Given the description of an element on the screen output the (x, y) to click on. 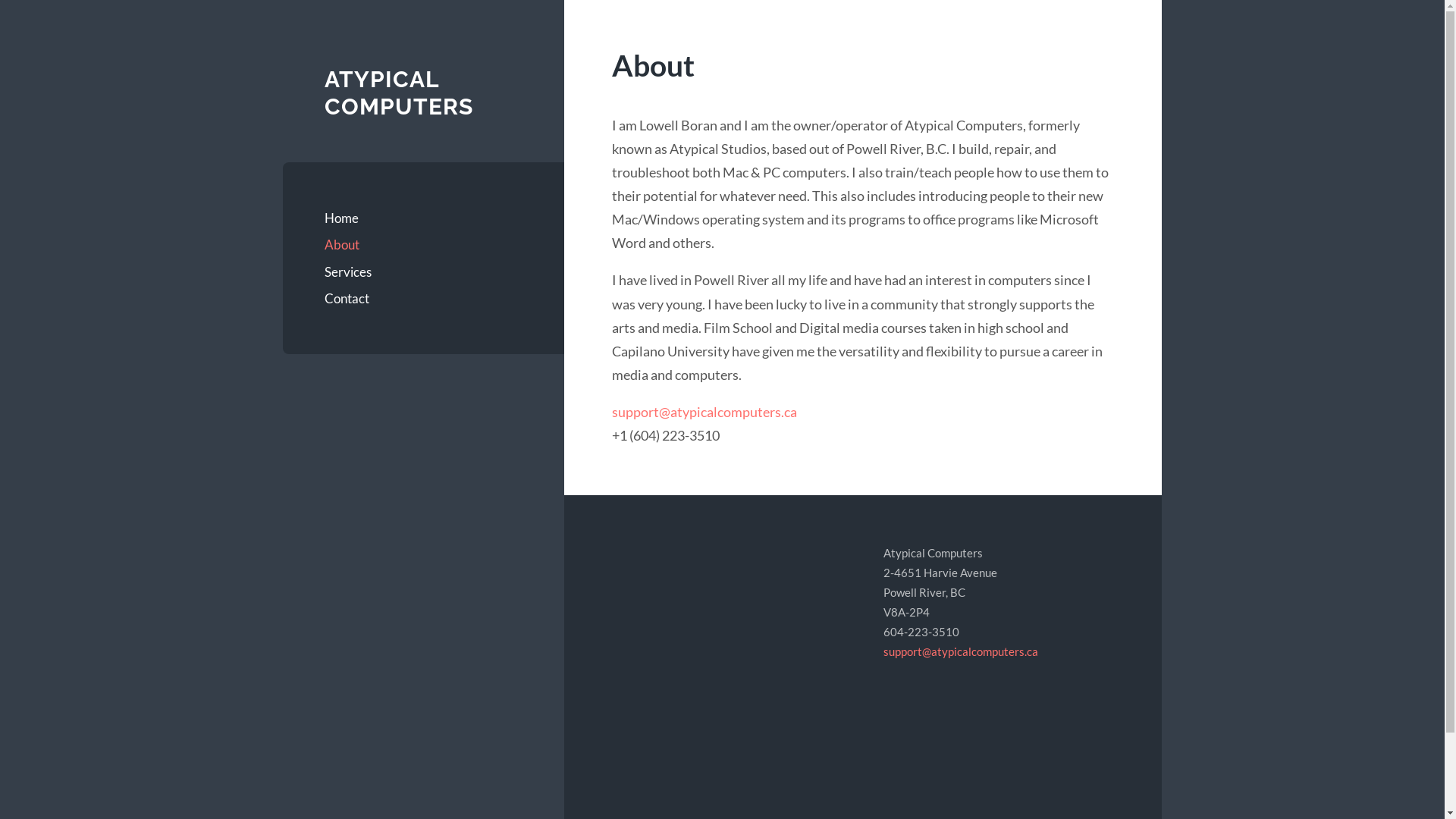
support@atypicalcomputers.ca Element type: text (960, 651)
About Element type: text (422, 244)
ATYPICAL COMPUTERS Element type: text (398, 92)
Contact Element type: text (422, 298)
Services Element type: text (422, 271)
support@atypicalcomputers.ca Element type: text (704, 411)
Home Element type: text (422, 218)
